Given the description of an element on the screen output the (x, y) to click on. 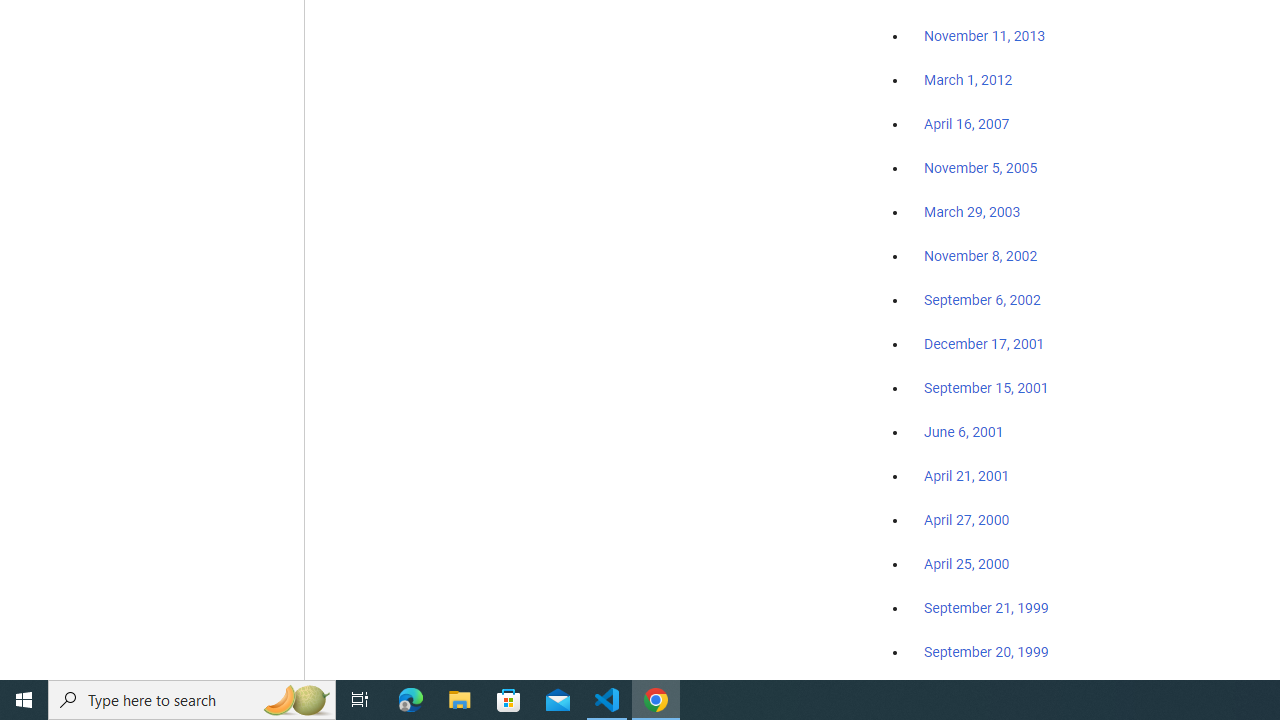
April 25, 2000 (966, 564)
April 21, 2001 (966, 476)
June 6, 2001 (963, 431)
December 17, 2001 (984, 343)
March 29, 2003 (972, 212)
November 11, 2013 (984, 37)
September 6, 2002 (982, 299)
November 8, 2002 (981, 255)
April 27, 2000 (966, 520)
March 1, 2012 (968, 81)
April 16, 2007 (966, 124)
September 15, 2001 (986, 387)
September 21, 1999 (986, 608)
November 5, 2005 (981, 168)
September 20, 1999 (986, 651)
